Given the description of an element on the screen output the (x, y) to click on. 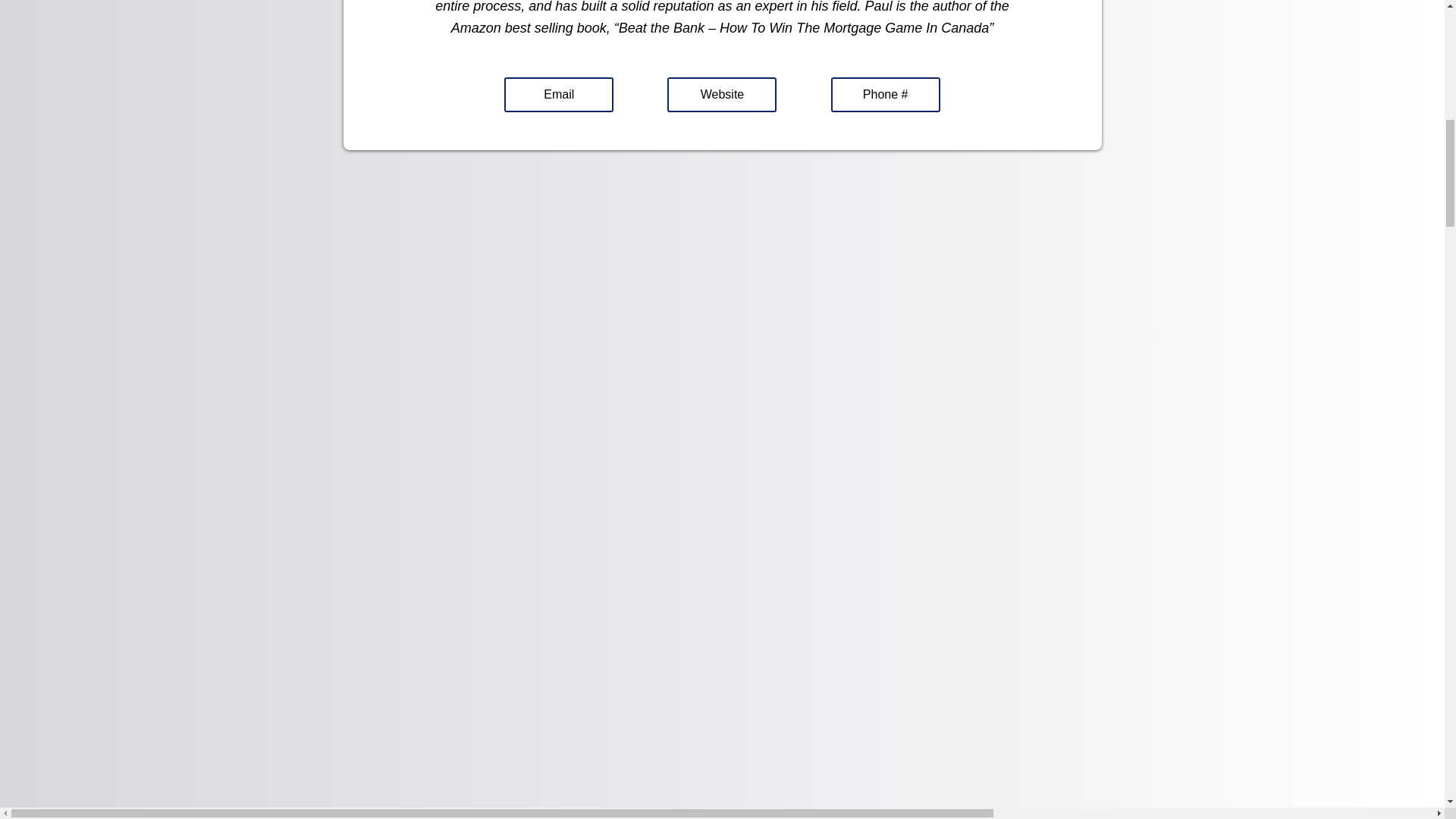
Email (557, 94)
Website (721, 94)
